Given the description of an element on the screen output the (x, y) to click on. 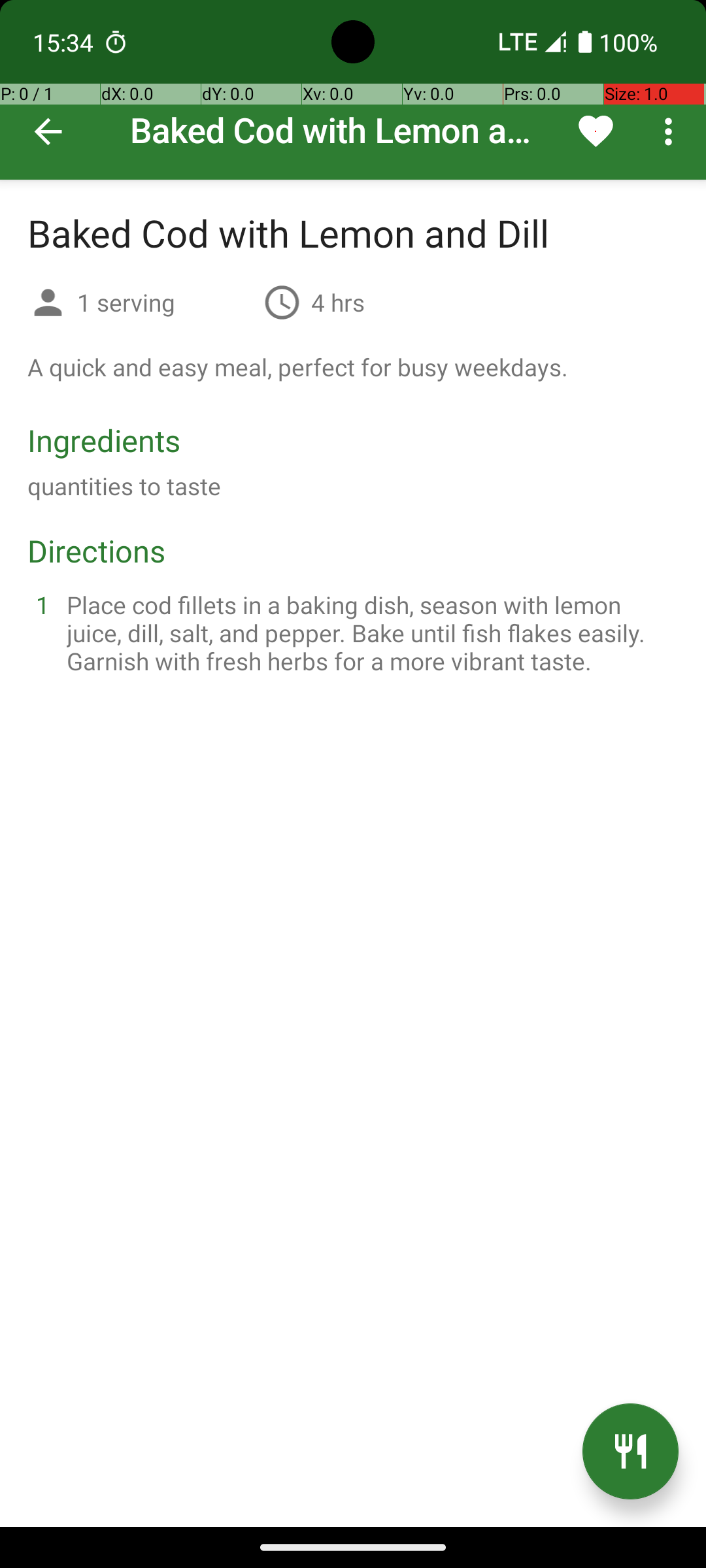
Place cod fillets in a baking dish, season with lemon juice, dill, salt, and pepper. Bake until fish flakes easily. Garnish with fresh herbs for a more vibrant taste. Element type: android.widget.TextView (368, 632)
